Given the description of an element on the screen output the (x, y) to click on. 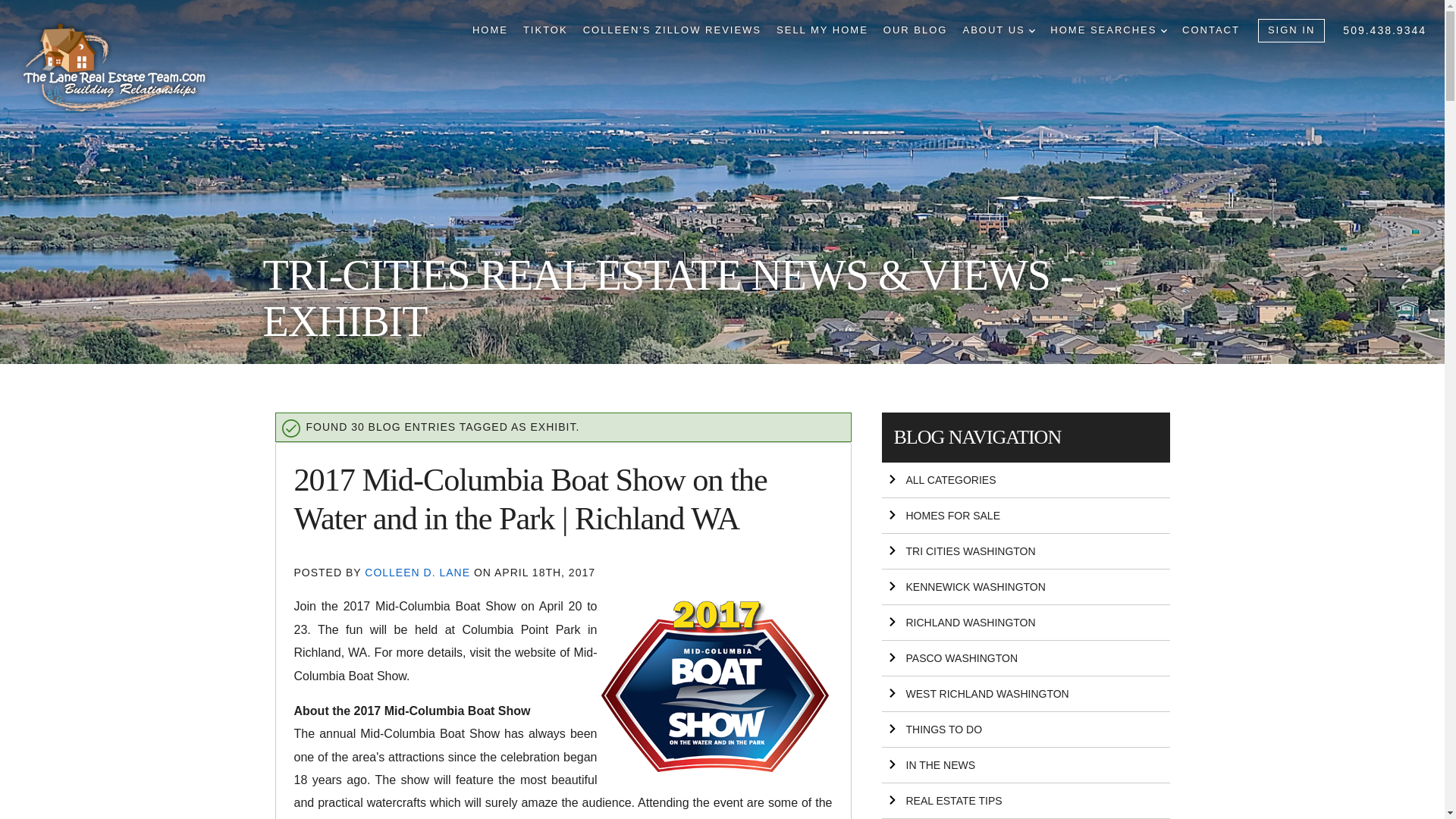
DROPDOWN ARROW (1032, 30)
HOME (489, 30)
DROPDOWN ARROW (1163, 30)
SELL MY HOME (821, 30)
HOME SEARCHES DROPDOWN ARROW (1108, 30)
ABOUT US DROPDOWN ARROW (998, 30)
CONTACT (1211, 30)
COLLEEN'S ZILLOW REVIEWS (672, 30)
TIKTOK (544, 30)
OUR BLOG (915, 30)
